Given the description of an element on the screen output the (x, y) to click on. 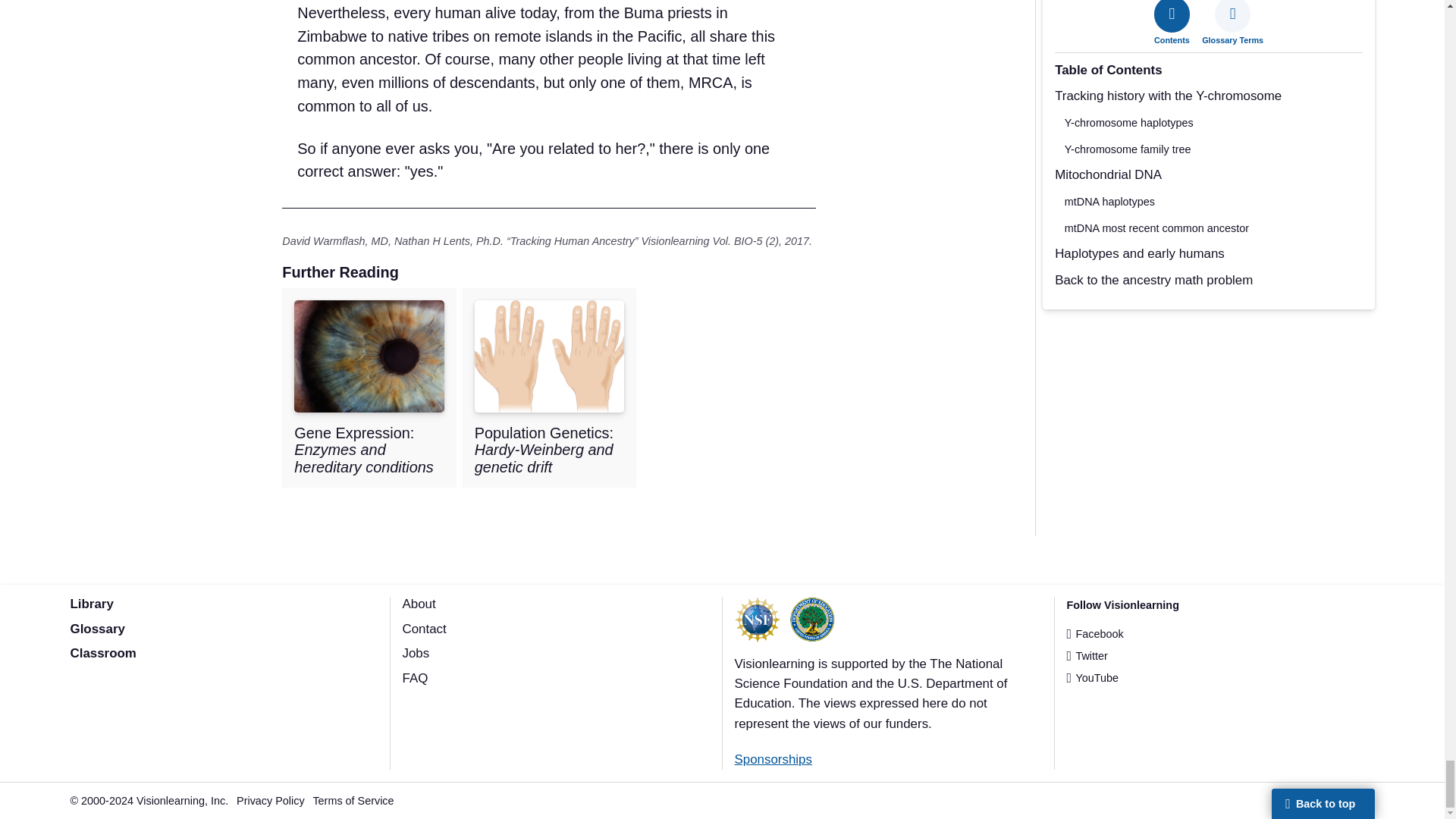
Science terms (96, 628)
